Given the description of an element on the screen output the (x, y) to click on. 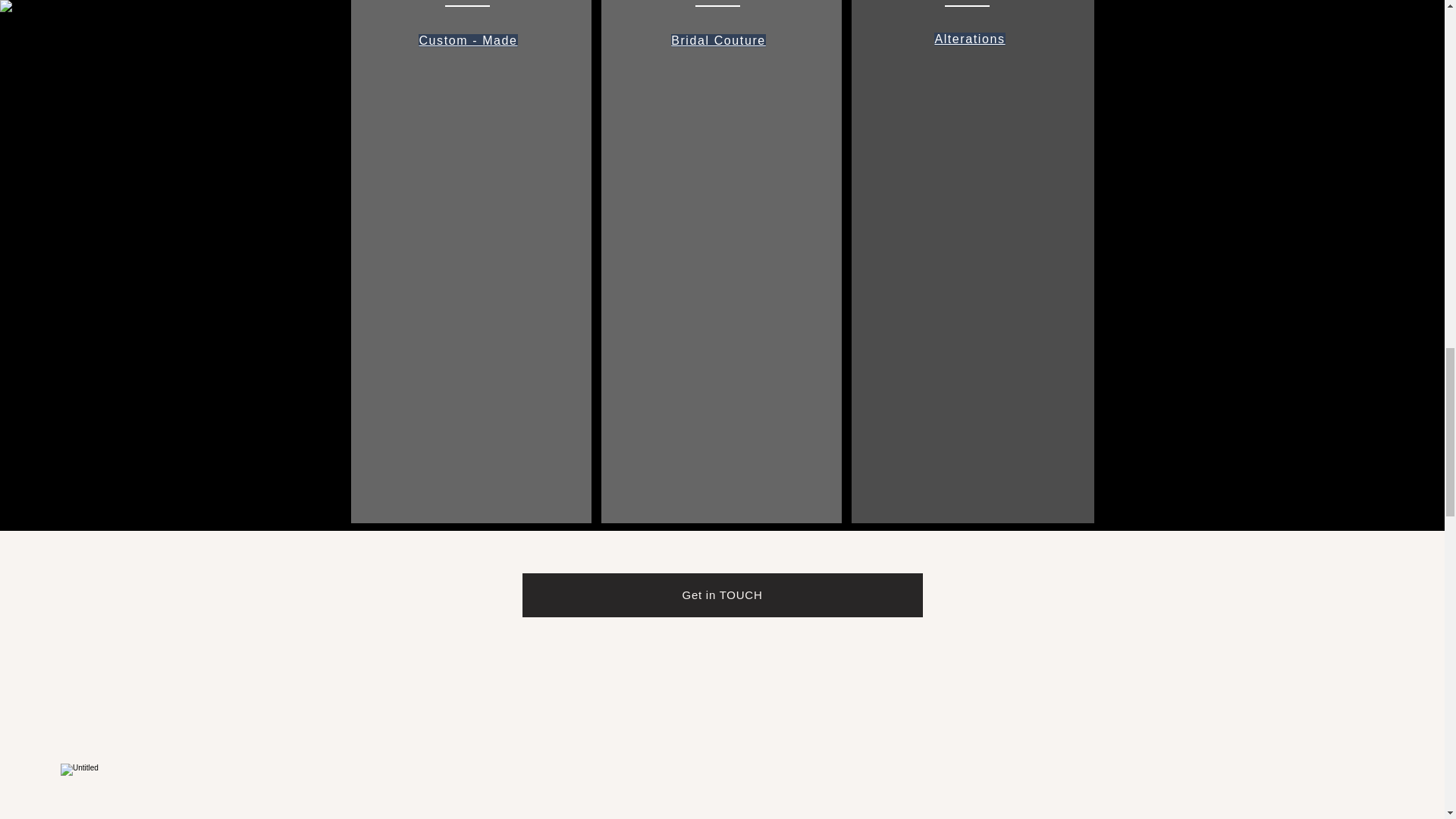
Bridal Couture (718, 40)
Get in TOUCH (721, 595)
Custom - Made (467, 40)
Alterations (969, 38)
